Given the description of an element on the screen output the (x, y) to click on. 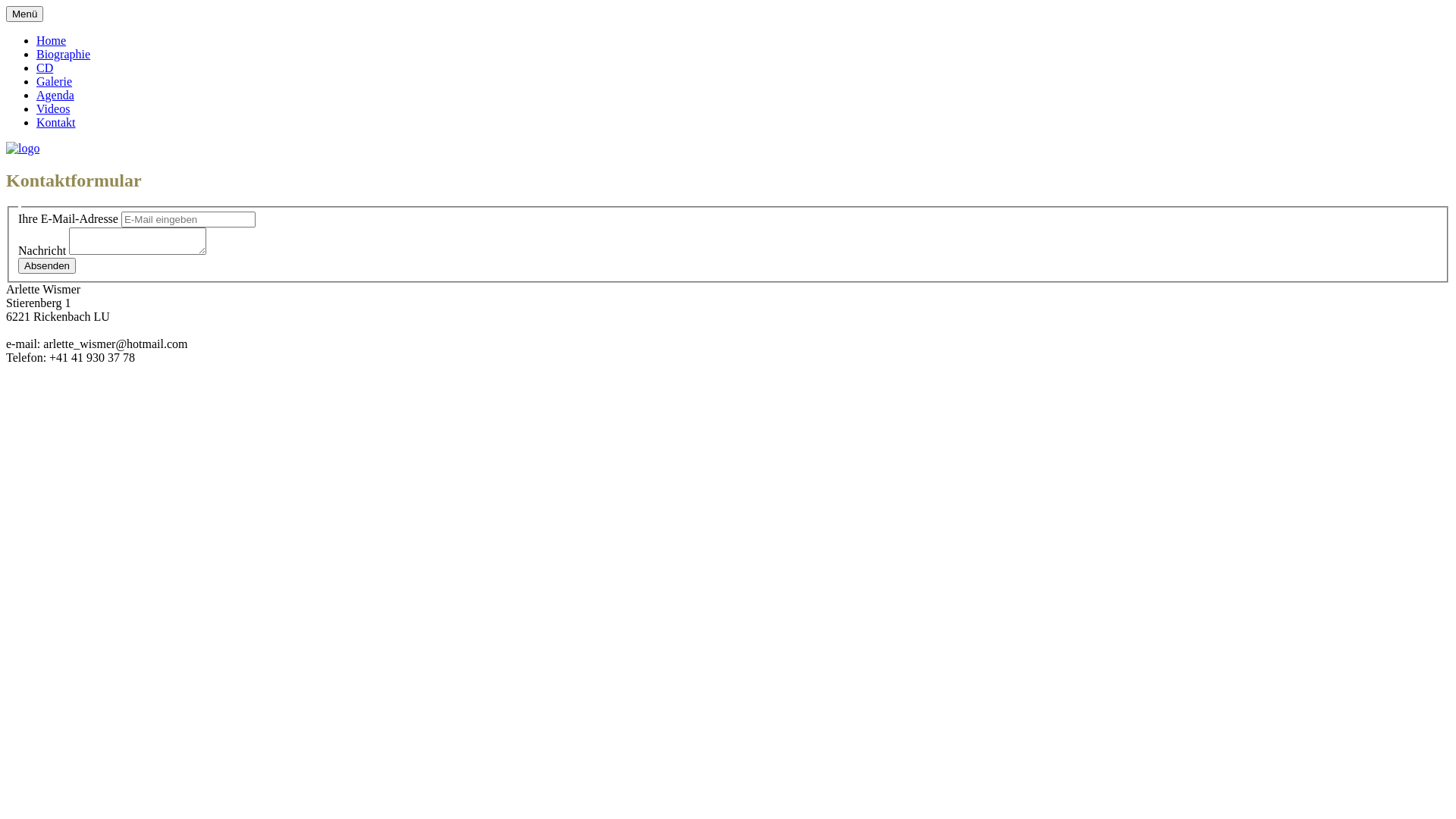
Home Element type: text (50, 40)
Kontakt Element type: text (55, 122)
Biographie Element type: text (63, 53)
logo Element type: hover (22, 148)
CD Element type: text (44, 67)
Absenden Element type: text (46, 265)
Agenda Element type: text (55, 94)
Galerie Element type: text (54, 81)
Videos Element type: text (52, 108)
